Given the description of an element on the screen output the (x, y) to click on. 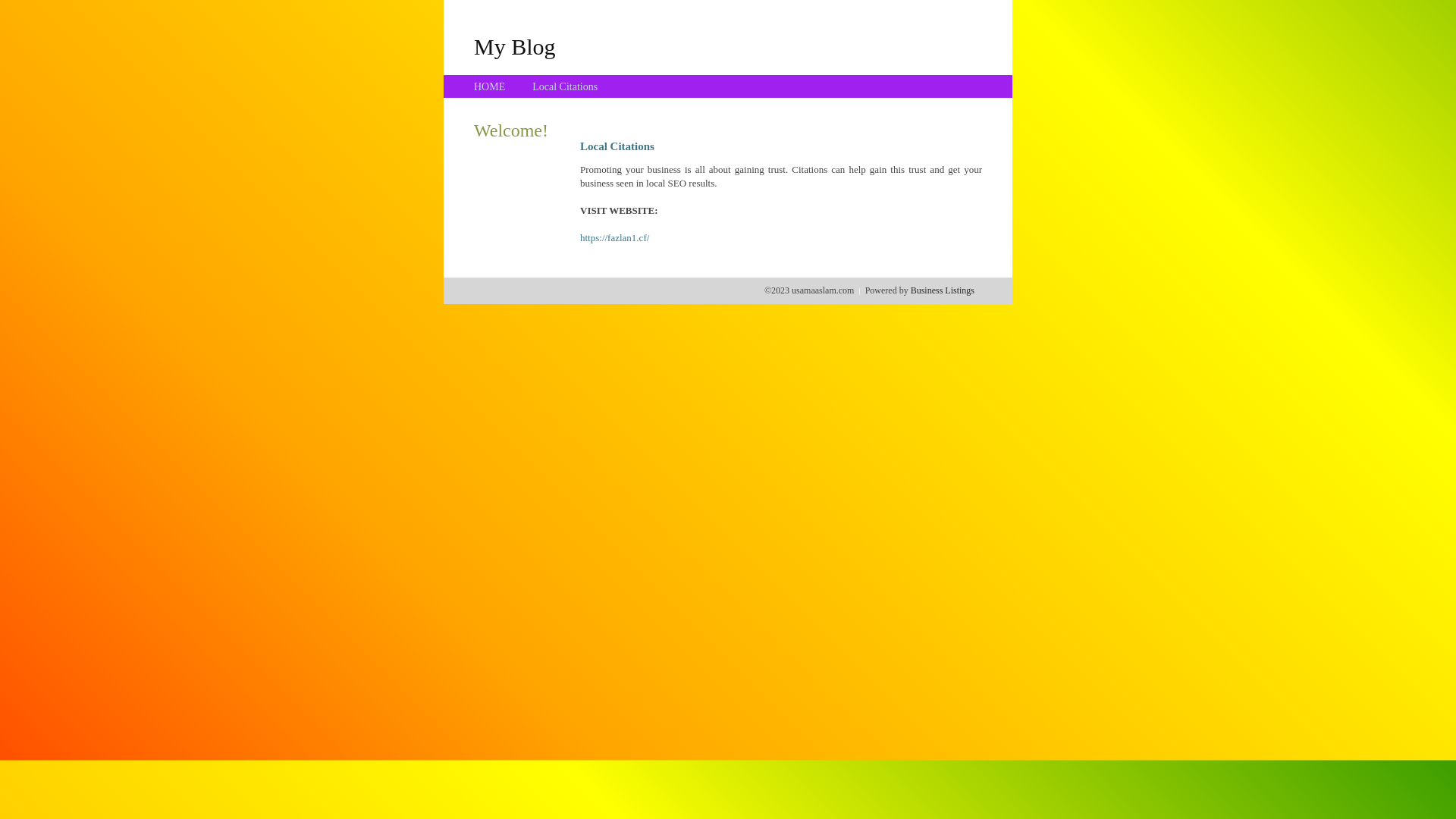
https://fazlan1.cf/ Element type: text (614, 237)
Business Listings Element type: text (942, 290)
HOME Element type: text (489, 86)
Local Citations Element type: text (564, 86)
My Blog Element type: text (514, 46)
